Given the description of an element on the screen output the (x, y) to click on. 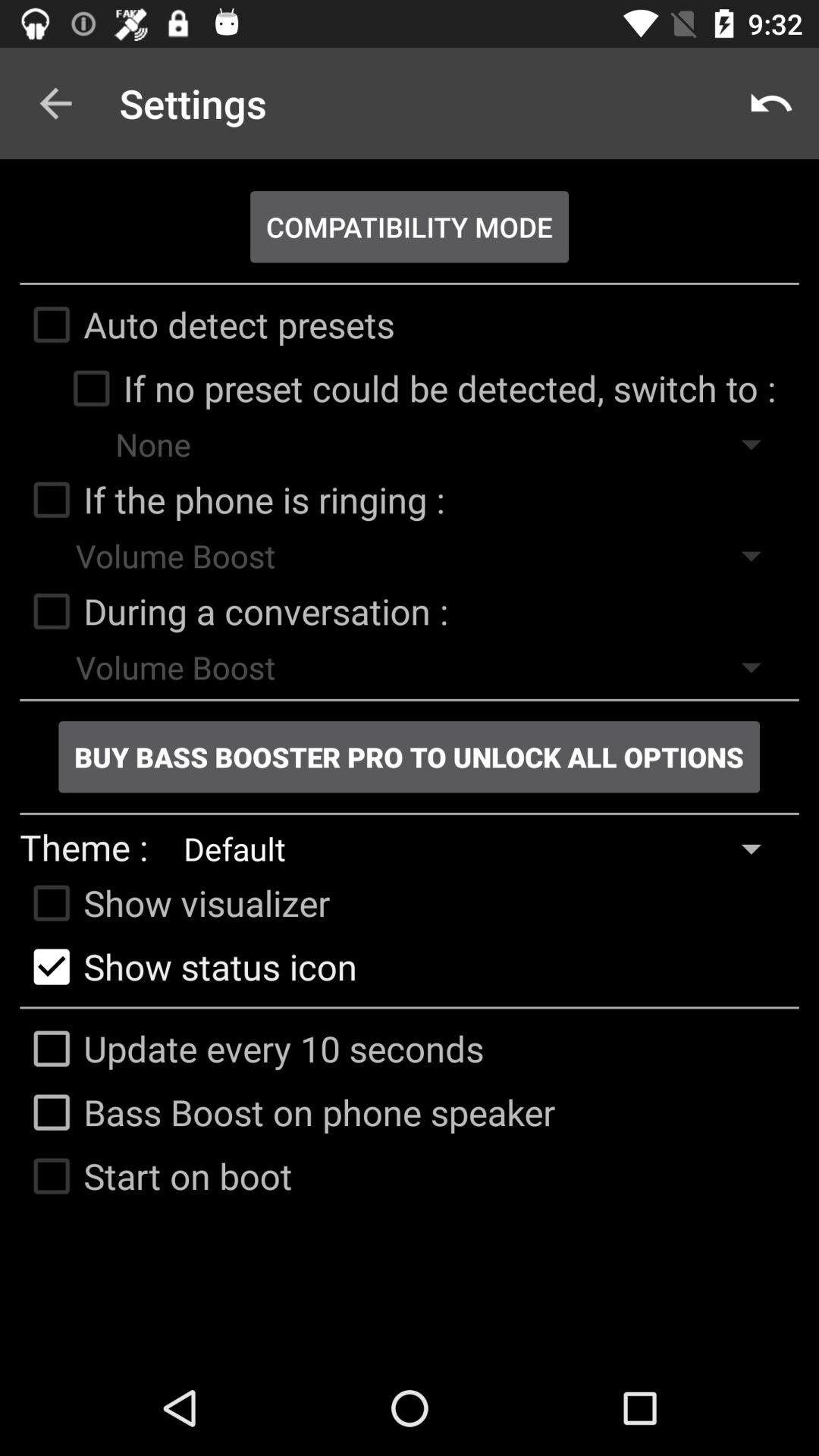
tap compatibility mode (409, 226)
